Given the description of an element on the screen output the (x, y) to click on. 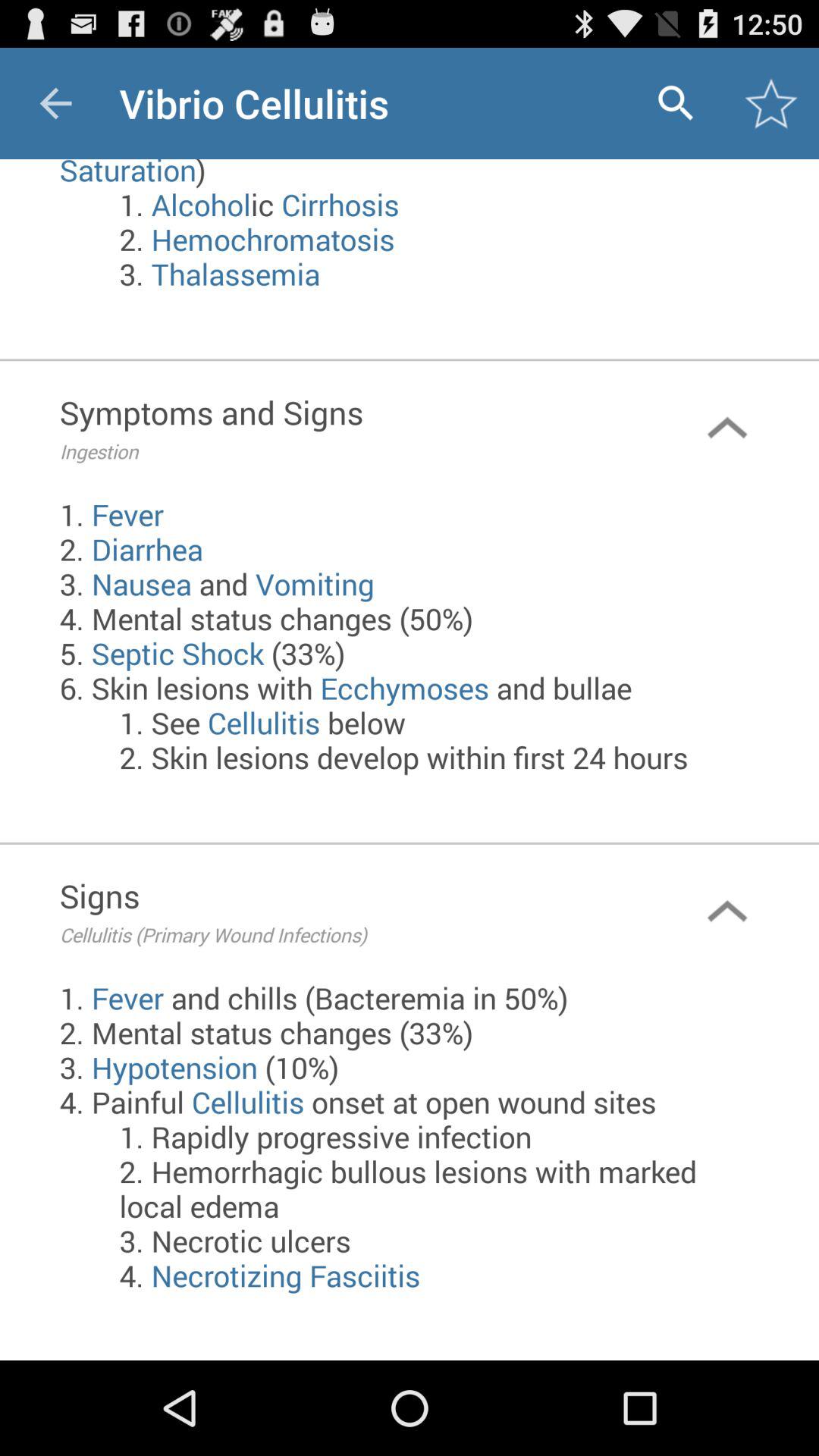
launch icon above the 1 fever and (347, 911)
